Given the description of an element on the screen output the (x, y) to click on. 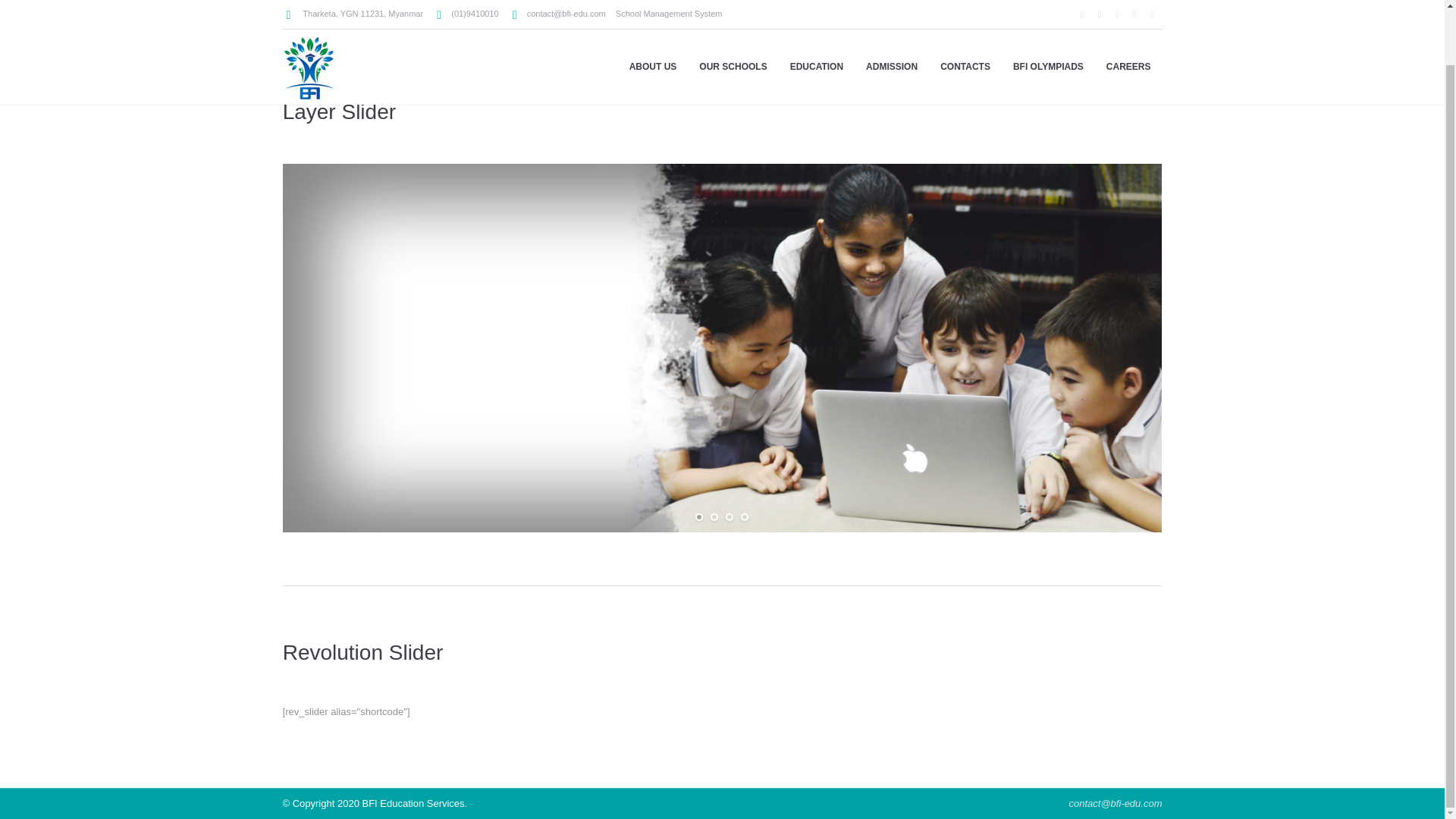
EDUCATION (816, 22)
OUR SCHOOLS (732, 22)
ABOUT US (652, 22)
CONTACTS (964, 22)
ADMISSION (891, 22)
